Given the description of an element on the screen output the (x, y) to click on. 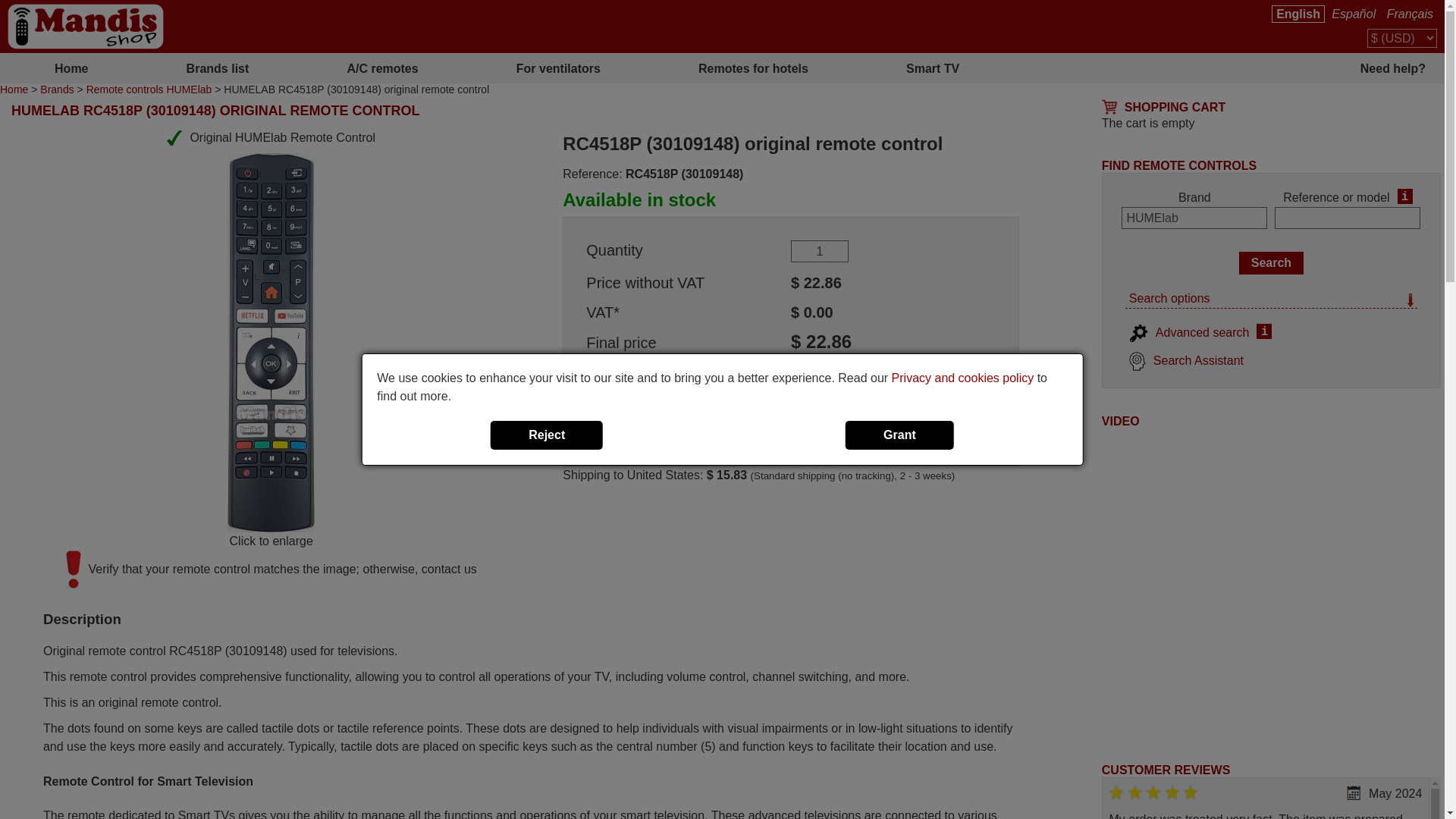
Home (13, 89)
For ventilators (557, 67)
i (1404, 196)
Search Assistant (1186, 359)
Checkout (854, 372)
Brands (57, 89)
Smart TV (932, 67)
Need help? (1219, 67)
Remotes for hotels (753, 67)
Home (71, 67)
